Given the description of an element on the screen output the (x, y) to click on. 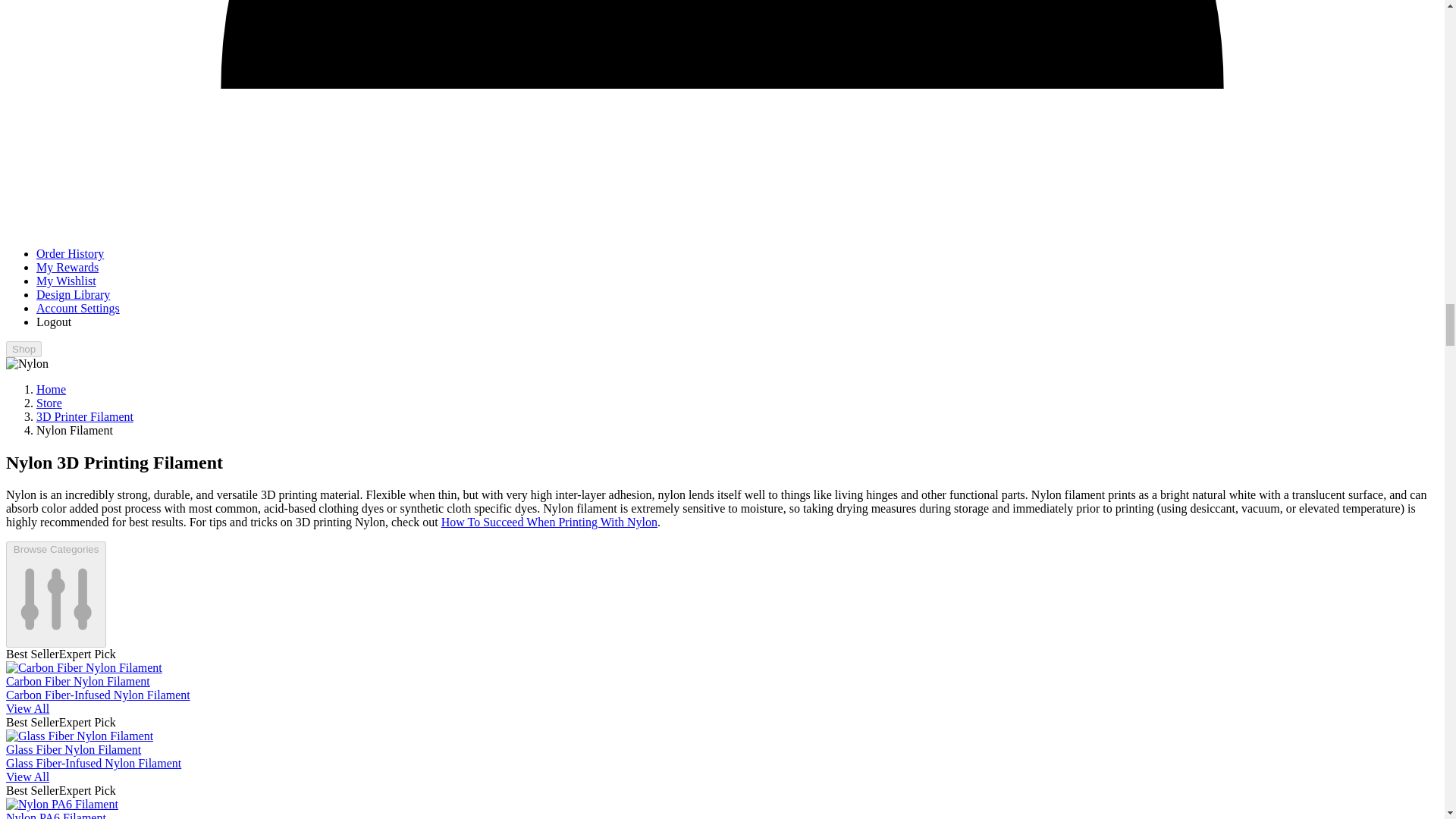
Design Library (73, 294)
Shop (23, 349)
Order History (69, 253)
Nylon PA6 Filament (61, 804)
Account Settings (77, 308)
Nylon (26, 364)
My Wishlist (66, 280)
Carbon Fiber Nylon Filament (83, 667)
Glass Fiber Nylon Filament (78, 735)
My Rewards (67, 267)
